Given the description of an element on the screen output the (x, y) to click on. 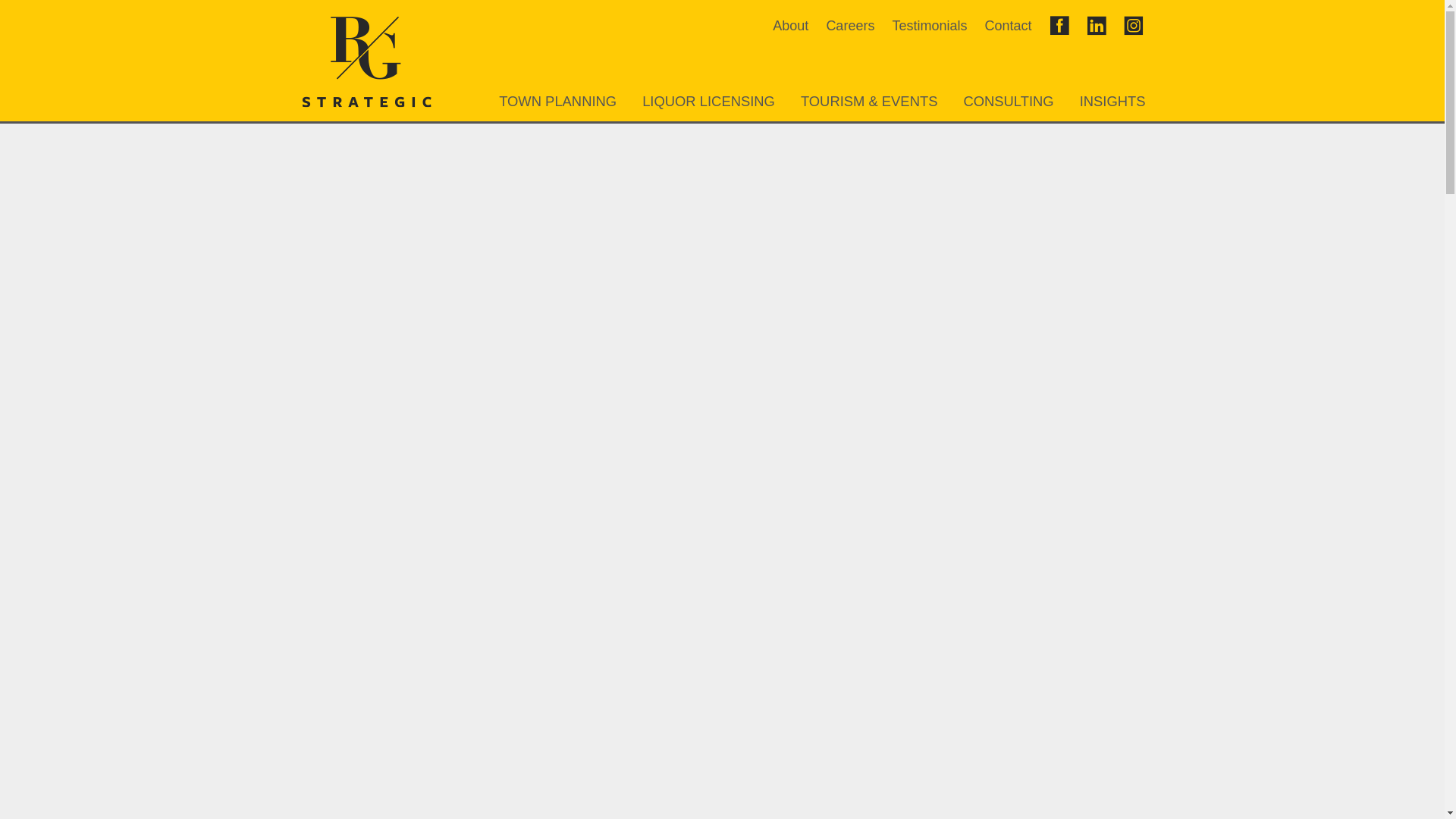
TOWN PLANNING (557, 101)
About (790, 25)
LIQUOR LICENSING (708, 101)
Contact (1007, 25)
Testimonials (928, 25)
Careers (850, 25)
